Given the description of an element on the screen output the (x, y) to click on. 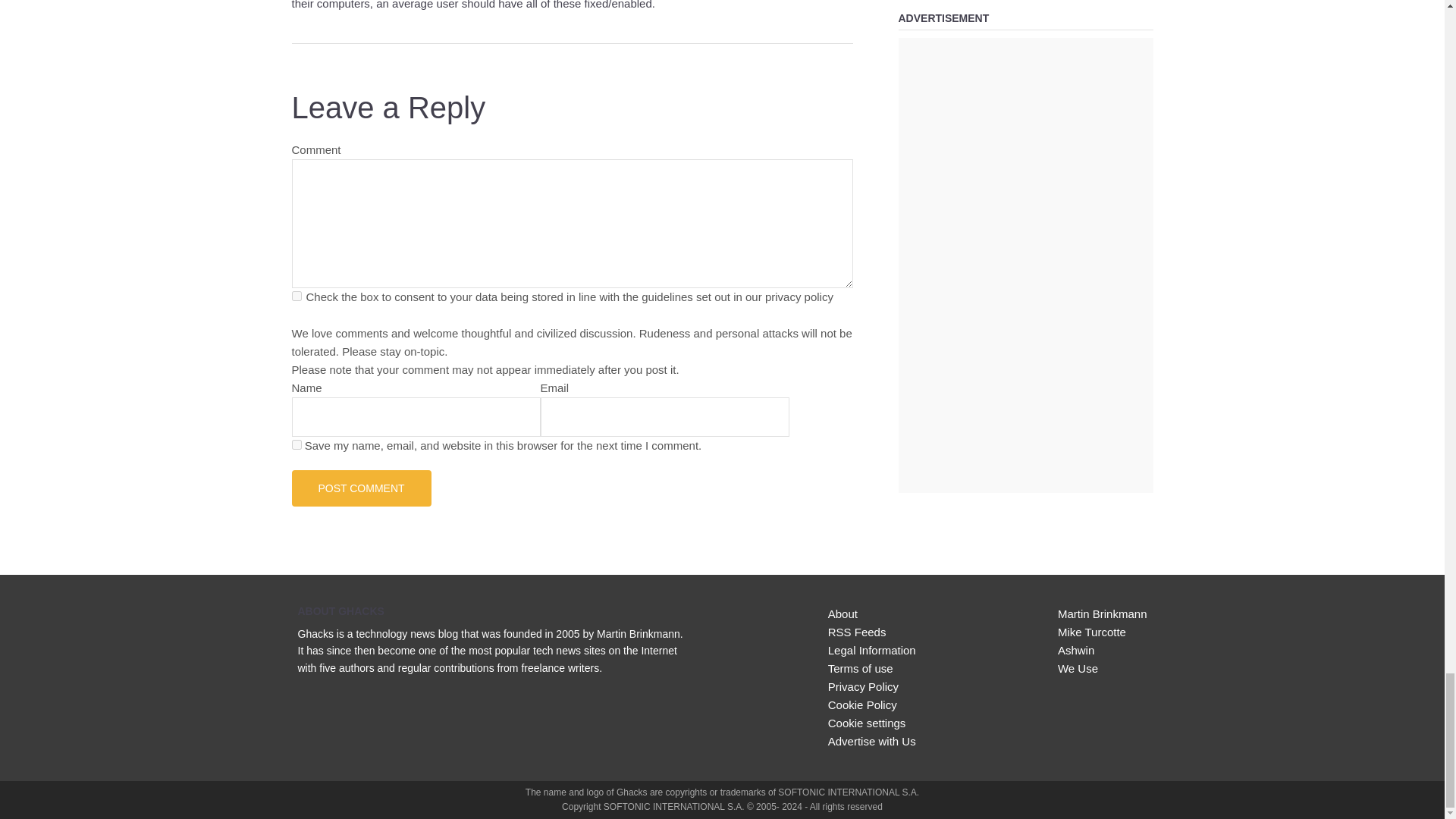
privacy-key (296, 296)
Post Comment (360, 488)
yes (296, 444)
